Given the description of an element on the screen output the (x, y) to click on. 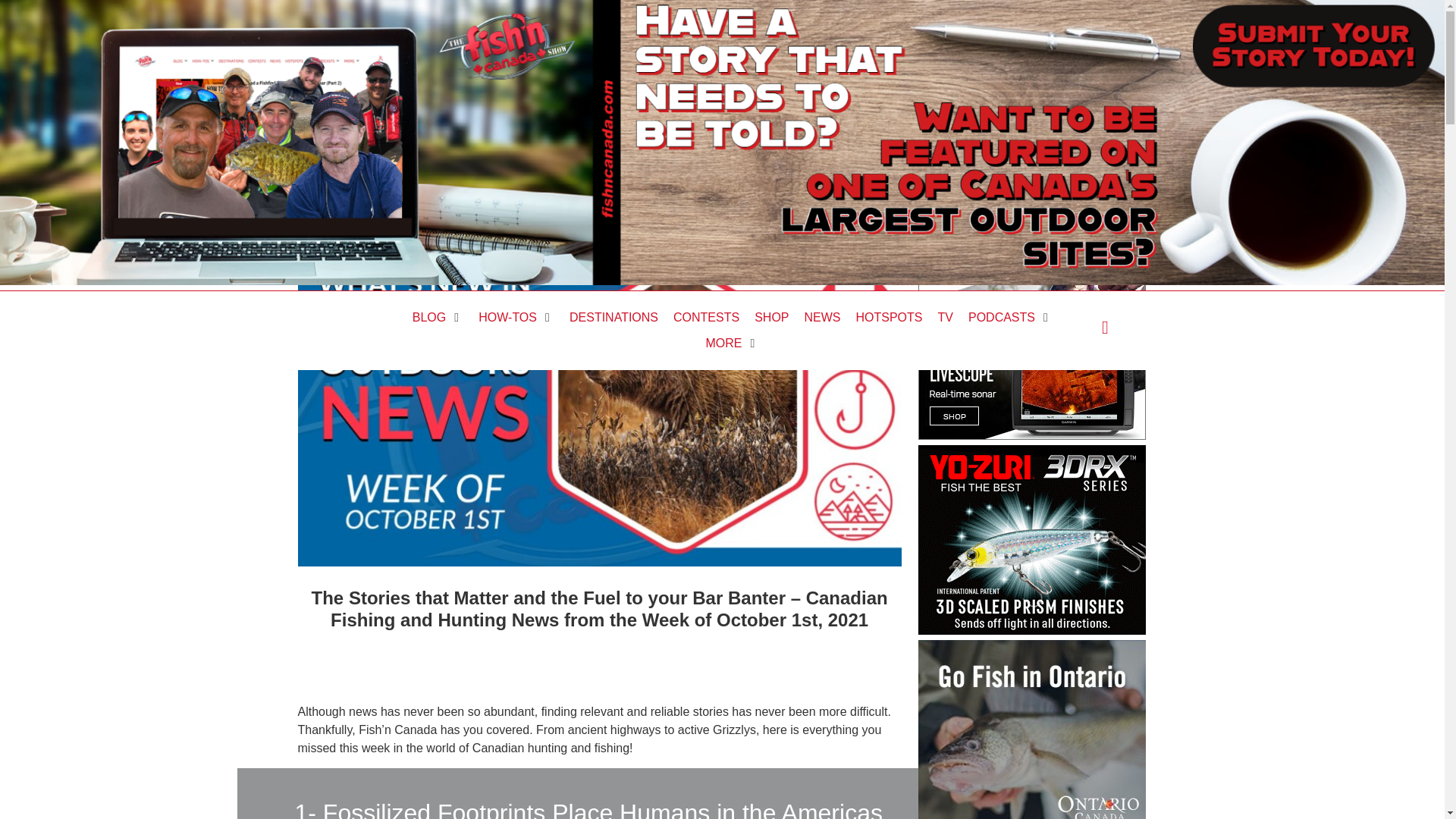
BLOG (428, 317)
HOW-TOS (508, 317)
DESTINATIONS (613, 317)
